Given the description of an element on the screen output the (x, y) to click on. 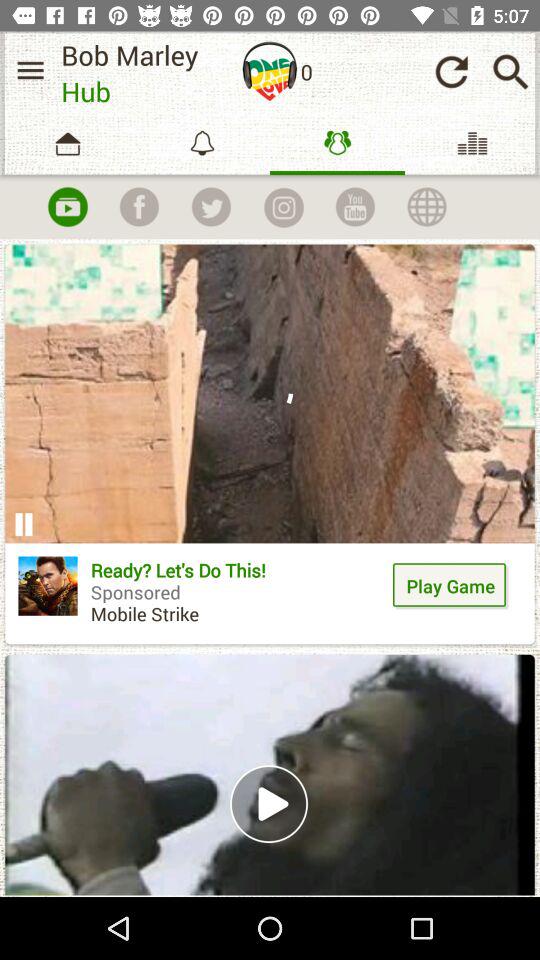
twitter (211, 207)
